Given the description of an element on the screen output the (x, y) to click on. 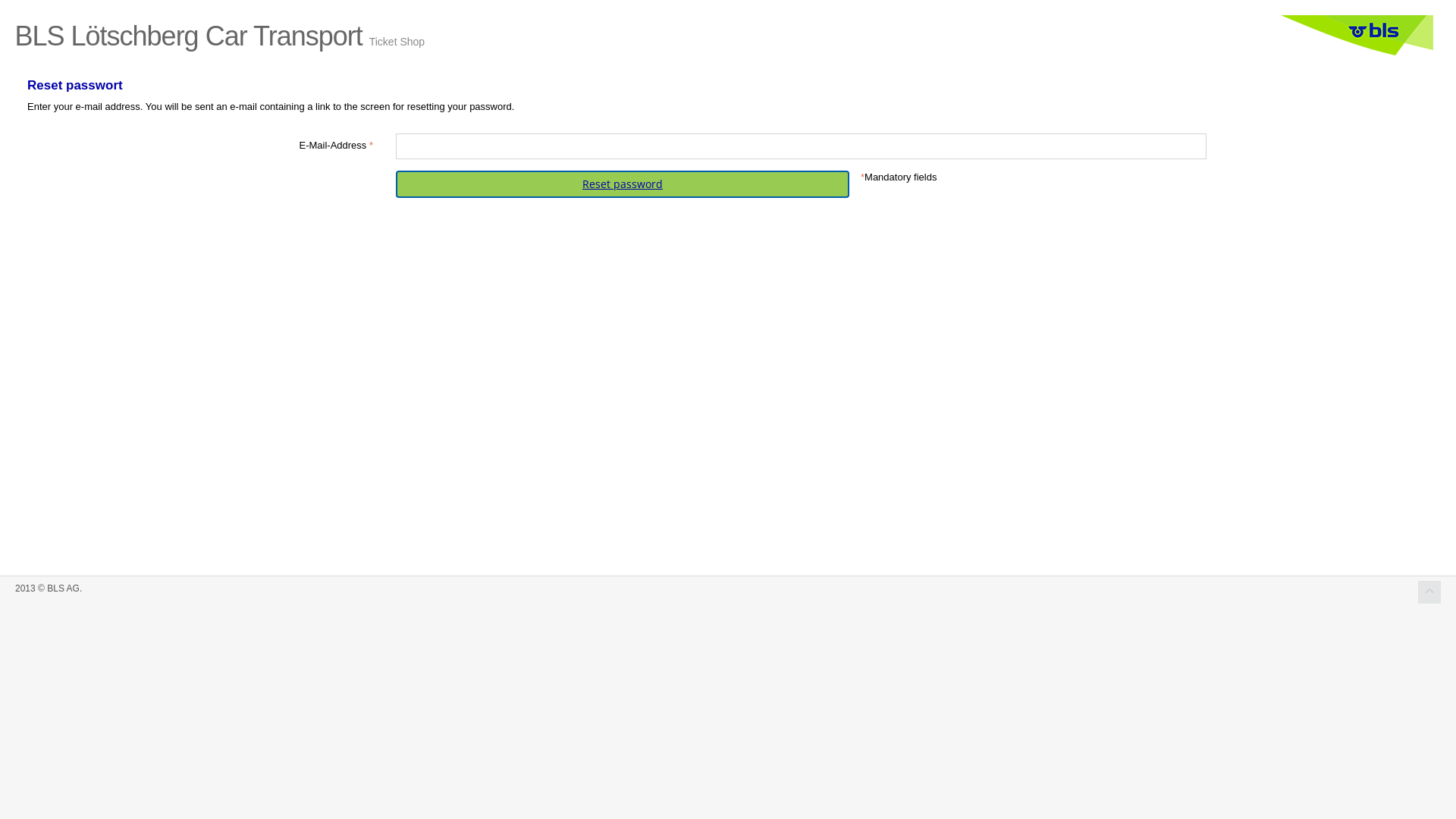
Reset password Element type: text (622, 183)
